Given the description of an element on the screen output the (x, y) to click on. 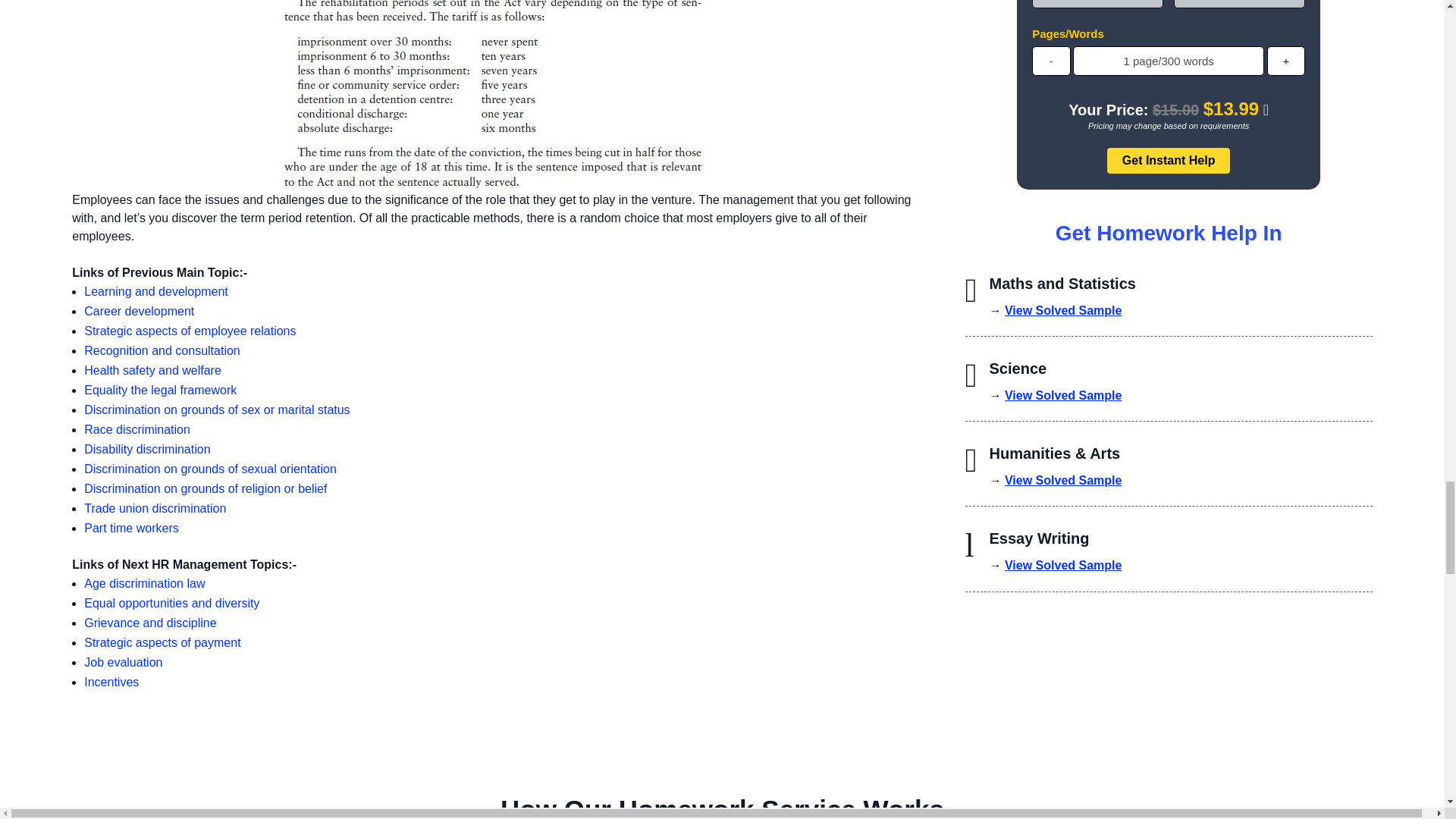
Ex-Offenders 1 (498, 95)
